Given the description of an element on the screen output the (x, y) to click on. 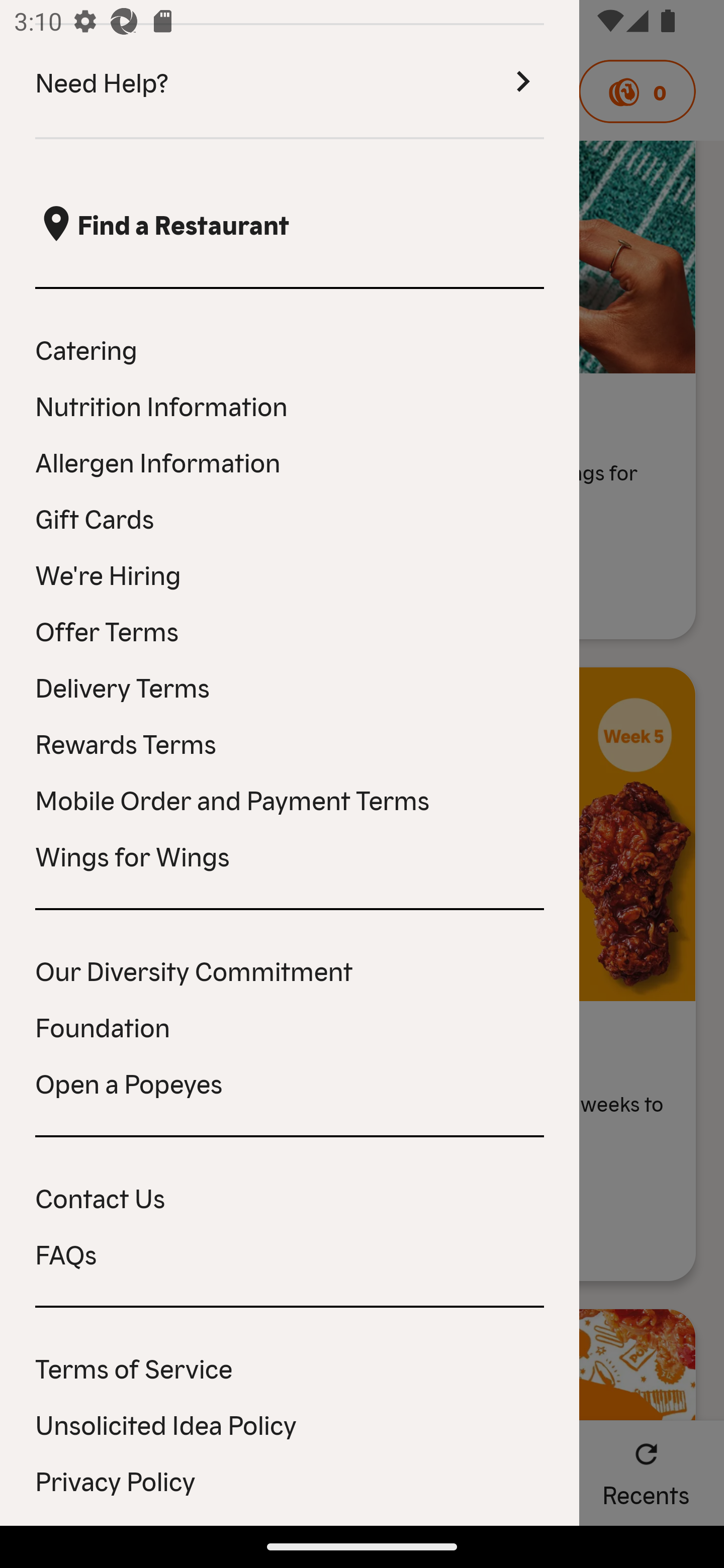
Need Help? Need Help?  (289, 82)
, Find a Restaurant  Find a Restaurant (289, 223)
Catering (289, 348)
Nutrition Information (289, 405)
Allergen Information (289, 460)
Gift Cards (289, 517)
We're Hiring (289, 573)
Offer Terms (289, 630)
Delivery Terms (289, 686)
Rewards Terms (289, 742)
Mobile Order and Payment Terms (289, 798)
Wings for Wings (289, 855)
Our Diversity Commitment (289, 969)
Foundation (289, 1026)
Open a Popeyes (289, 1082)
Contact Us (289, 1197)
FAQs (289, 1253)
Terms of Service (289, 1367)
Unsolicited Idea Policy (289, 1423)
Privacy Policy (289, 1479)
